Given the description of an element on the screen output the (x, y) to click on. 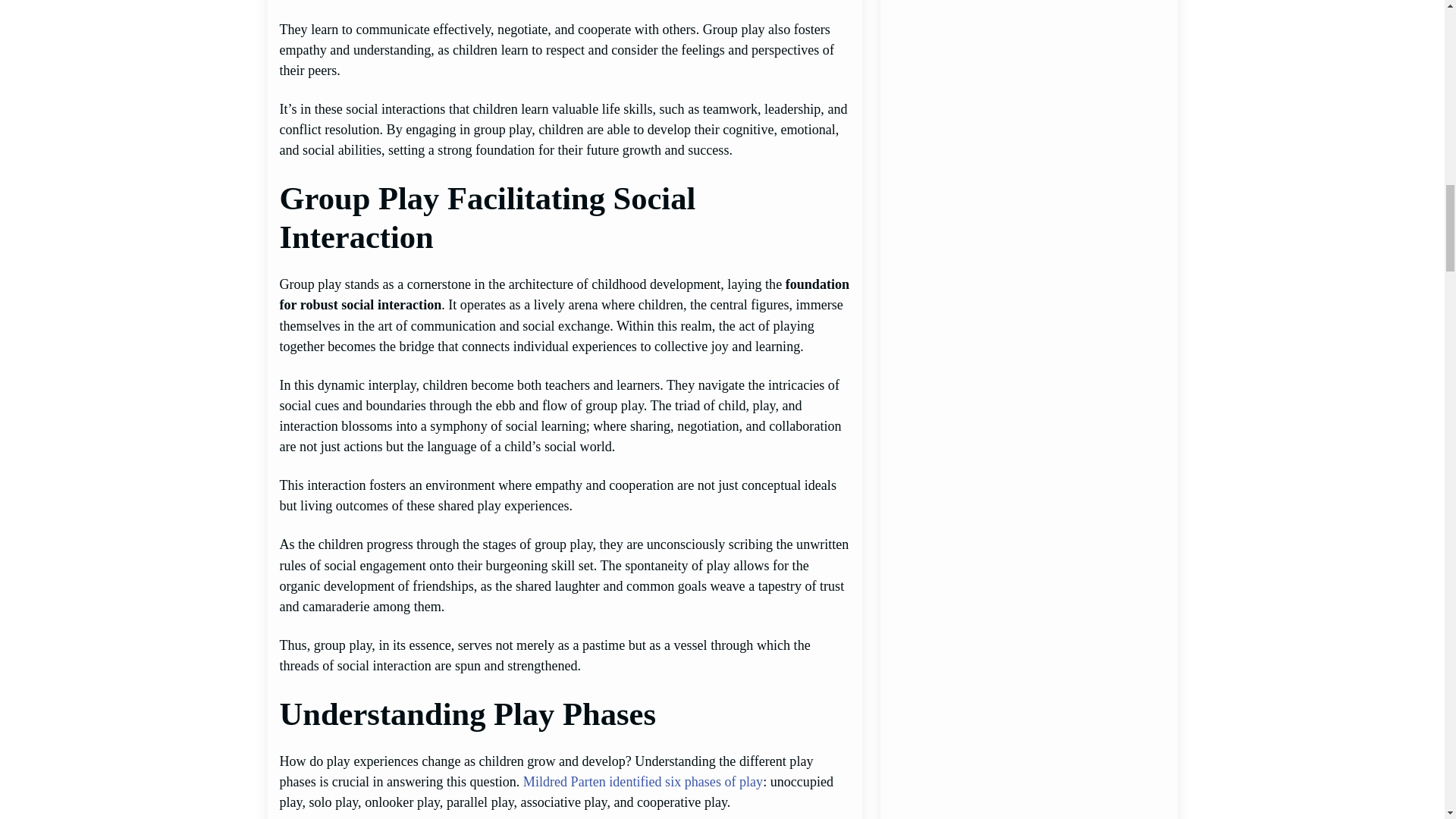
Best Wooden Marble Run Sets for Kids in 2023 15 (1027, 79)
Best Toys For 3 Month Old Babies 20 (1027, 791)
Mildred Parten identified six phases of play (642, 781)
Best Wooden Play Kitchens for Kids in 2023 16 (1027, 224)
